Given the description of an element on the screen output the (x, y) to click on. 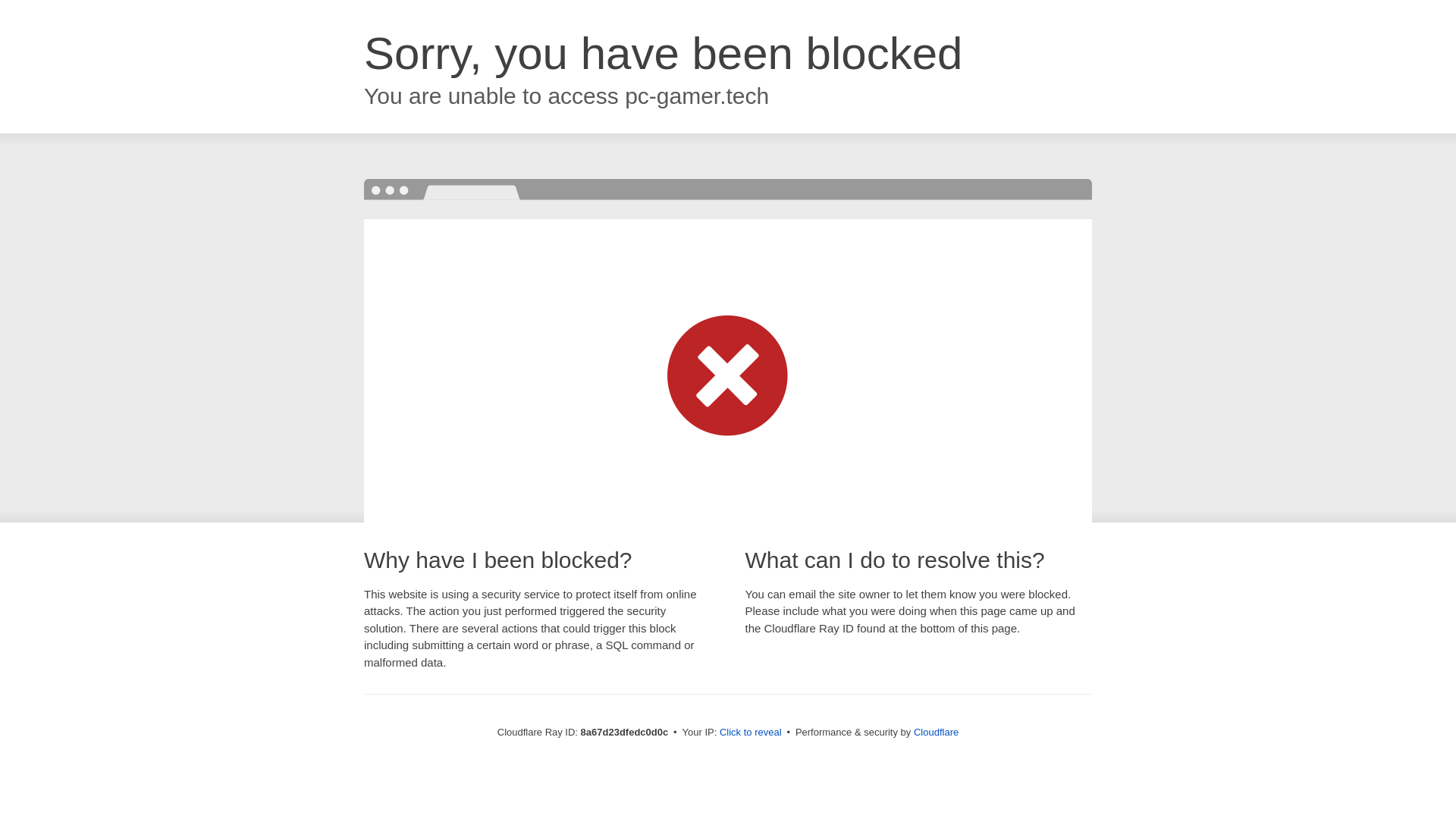
Click to reveal (750, 732)
Cloudflare (936, 731)
